Given the description of an element on the screen output the (x, y) to click on. 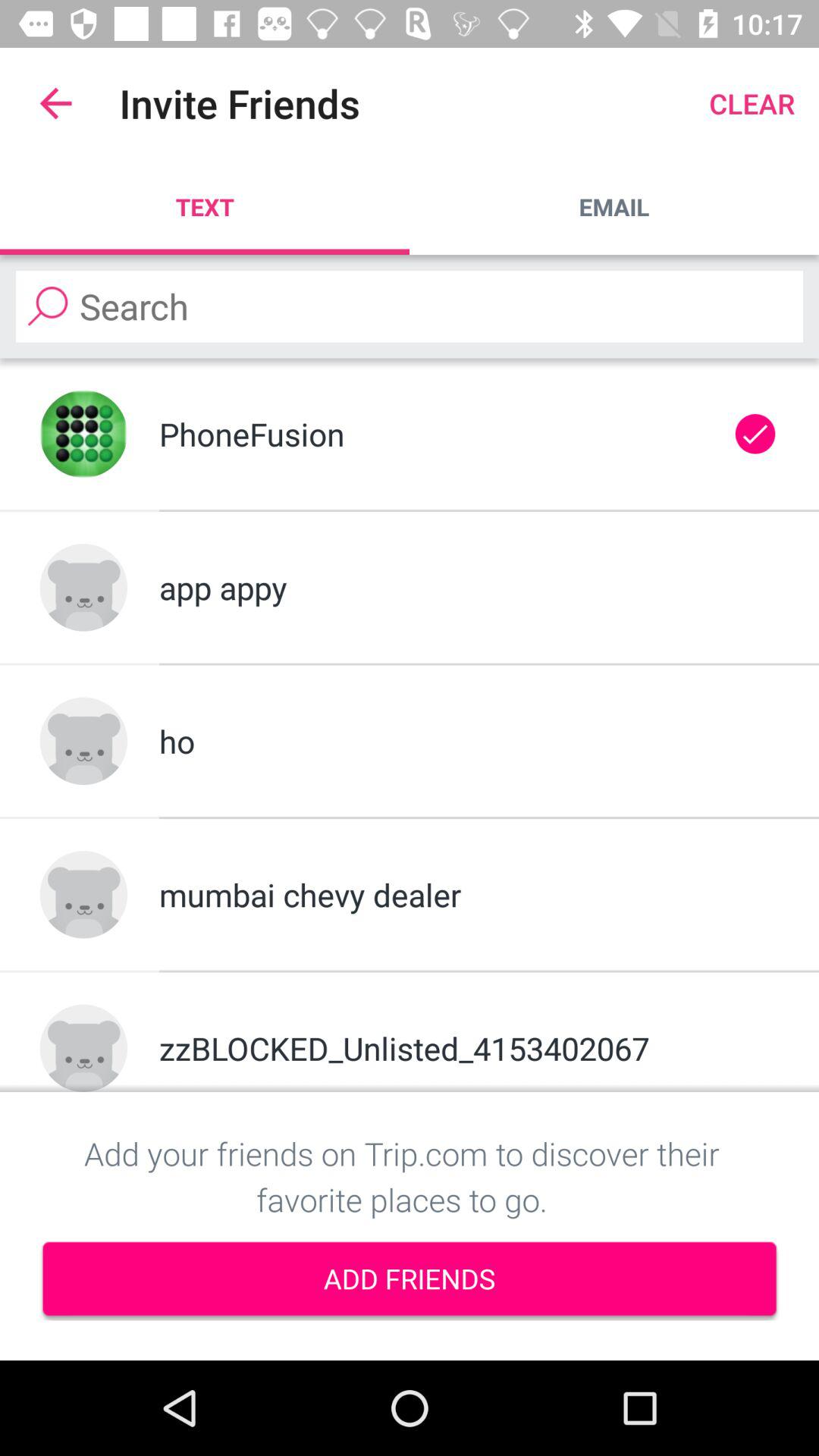
select the icon to the left of the email item (204, 206)
